Given the description of an element on the screen output the (x, y) to click on. 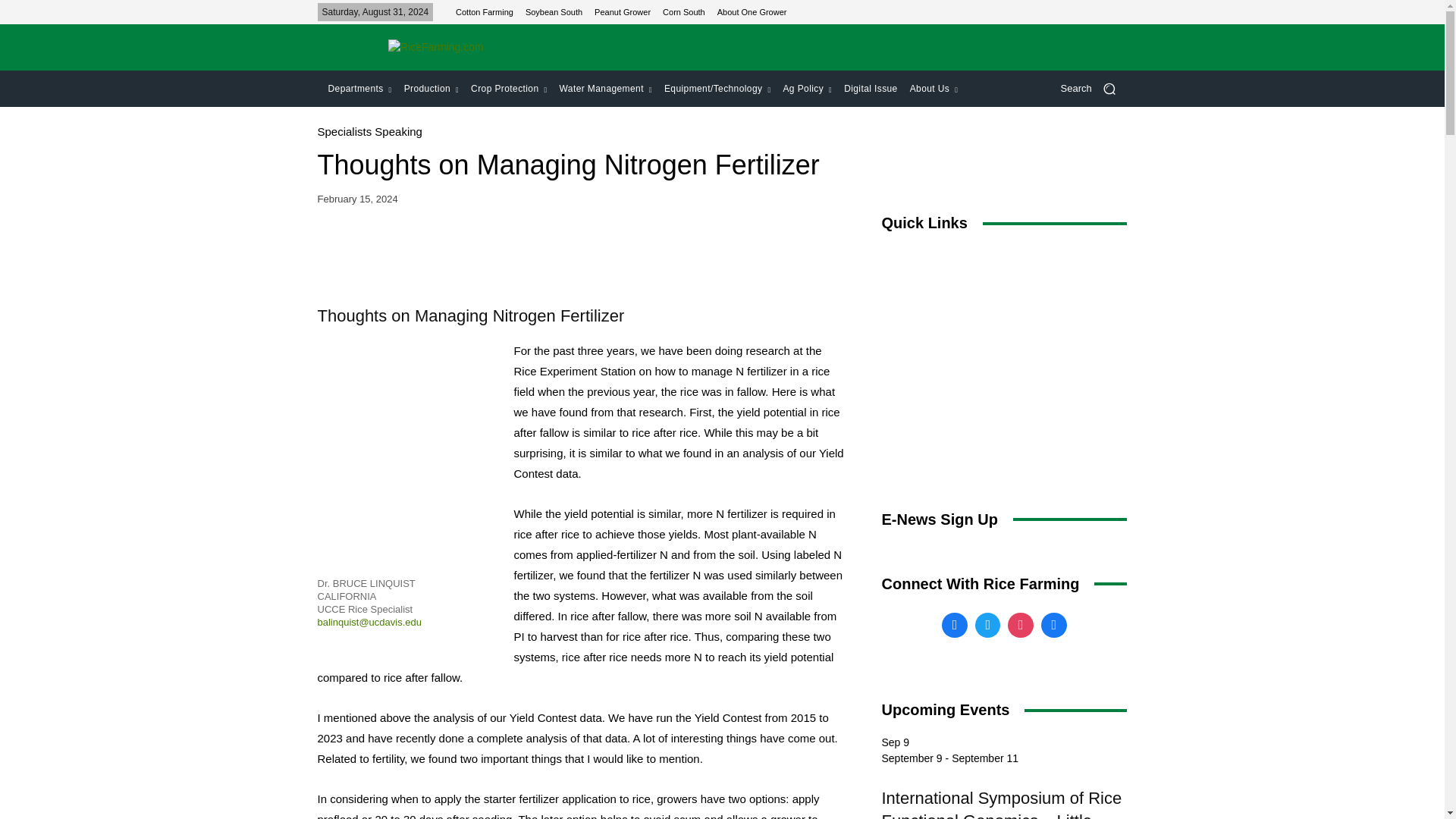
Cotton Farming (484, 11)
Production (430, 88)
Rice Farming Header Logo (435, 47)
Departments (359, 88)
Soybean South (553, 11)
About One Grower (752, 11)
Corn South (683, 11)
Peanut Grower (622, 11)
